Given the description of an element on the screen output the (x, y) to click on. 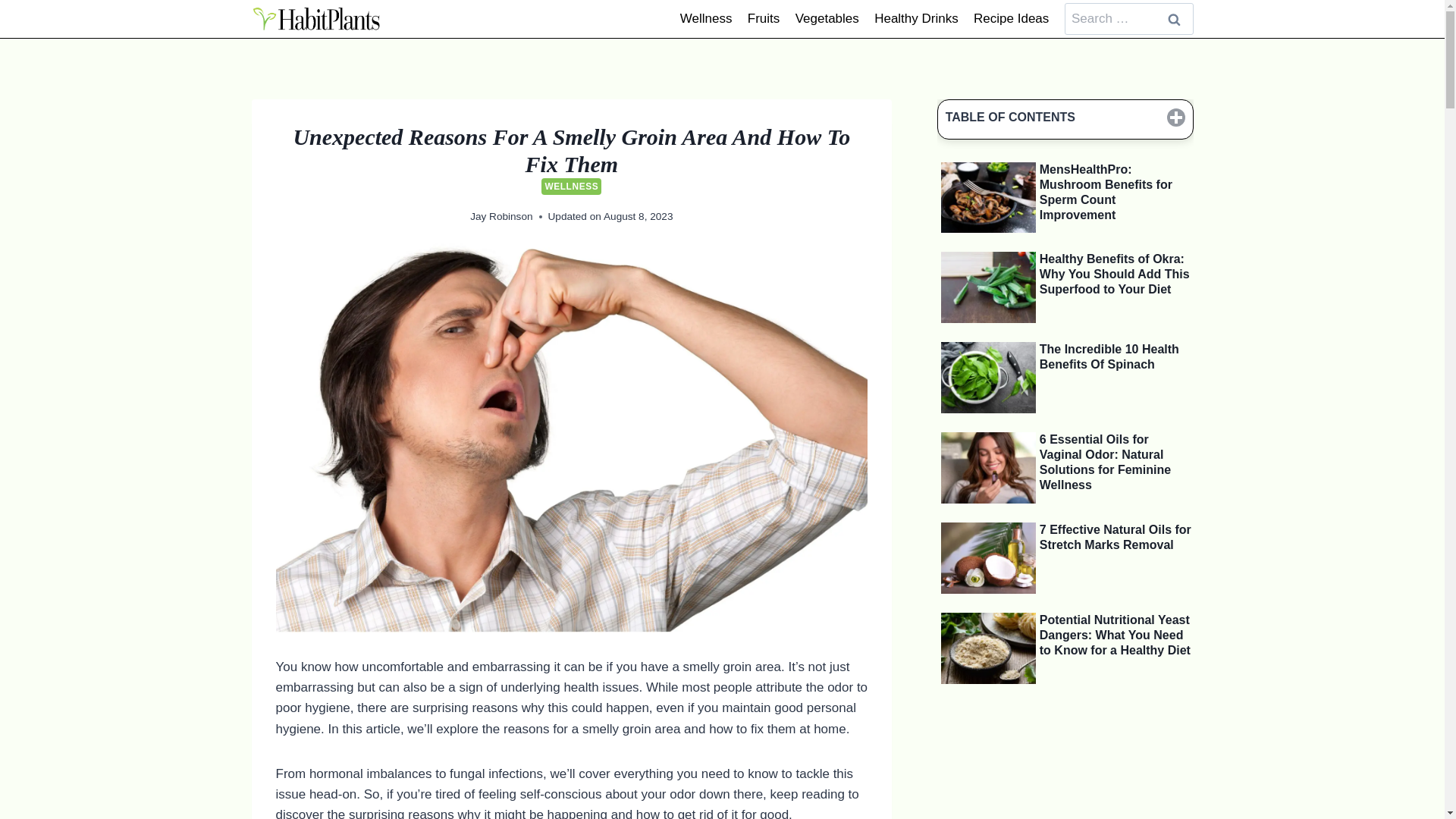
Fruits (763, 18)
Recipe Ideas (1011, 18)
Vegetables (826, 18)
Search (1174, 19)
Jay Robinson (501, 215)
Healthy Drinks (916, 18)
WELLNESS (571, 186)
Search (1174, 19)
Wellness (705, 18)
Search (1174, 19)
